Given the description of an element on the screen output the (x, y) to click on. 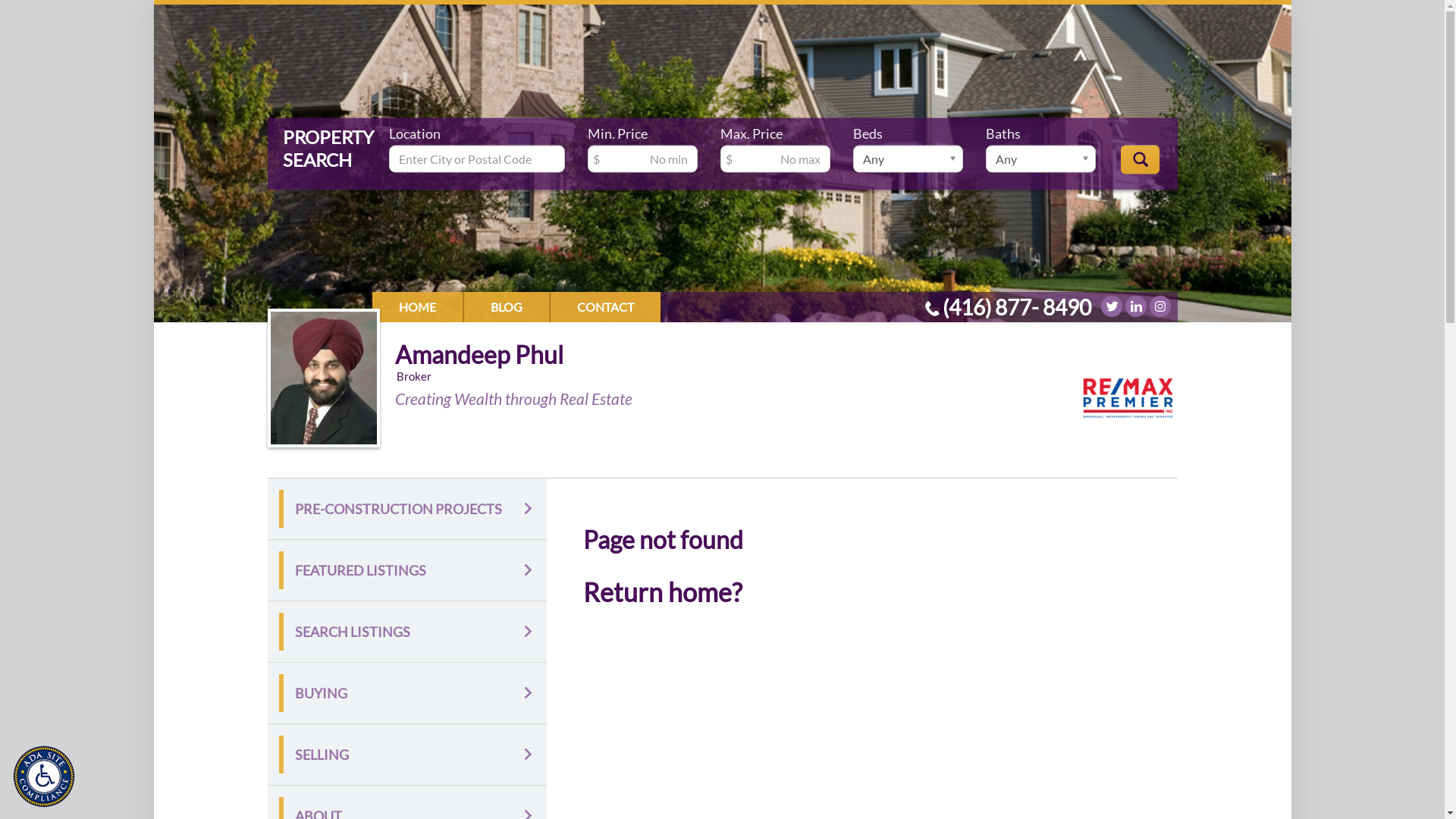
Return home? Element type: text (662, 591)
PRE-CONSTRUCTION PROJECTS Element type: text (407, 508)
HOME Element type: text (416, 306)
SELLING Element type: text (407, 754)
Accessibility Menu Element type: hover (47, 780)
Any Element type: text (1040, 158)
BUYING Element type: text (407, 693)
Accessibility Menu Element type: hover (43, 776)
CONTACT Element type: text (605, 306)
FEATURED LISTINGS Element type: text (407, 570)
BLOG Element type: text (506, 306)
SEARCH LISTINGS Element type: text (407, 631)
Amandeep Phul Element type: text (478, 354)
Any Element type: text (908, 158)
(416) 877- 8490 Element type: text (1015, 307)
